Given the description of an element on the screen output the (x, y) to click on. 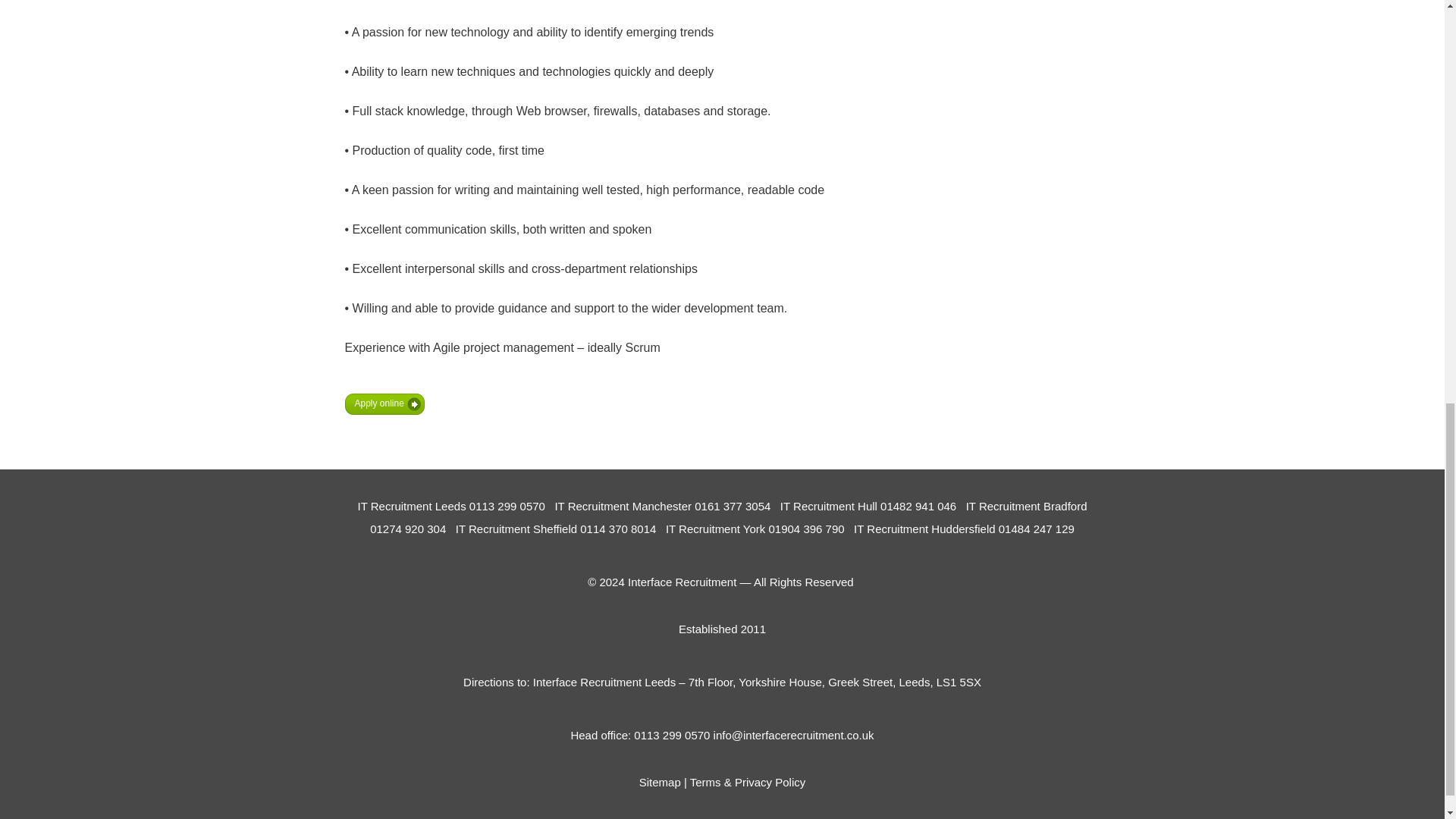
IT Recruitment Manchester 0161 377 3054 (662, 505)
Apply online (383, 403)
IT Recruitment Leeds 0113 299 0570 (453, 505)
 IT Recruitment Hull 01482 941 046  (868, 505)
